Given the description of an element on the screen output the (x, y) to click on. 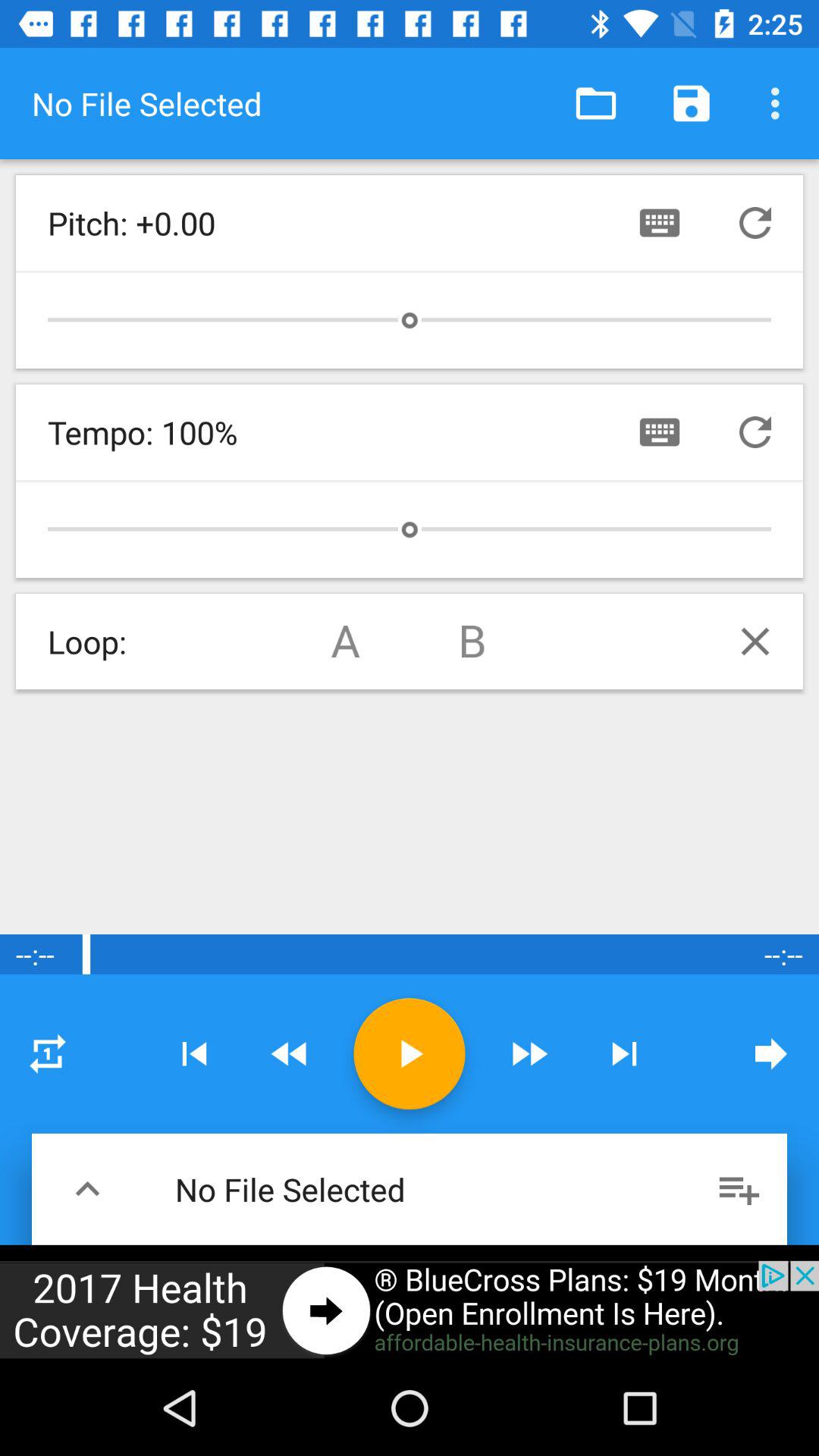
forward option (528, 1053)
